Given the description of an element on the screen output the (x, y) to click on. 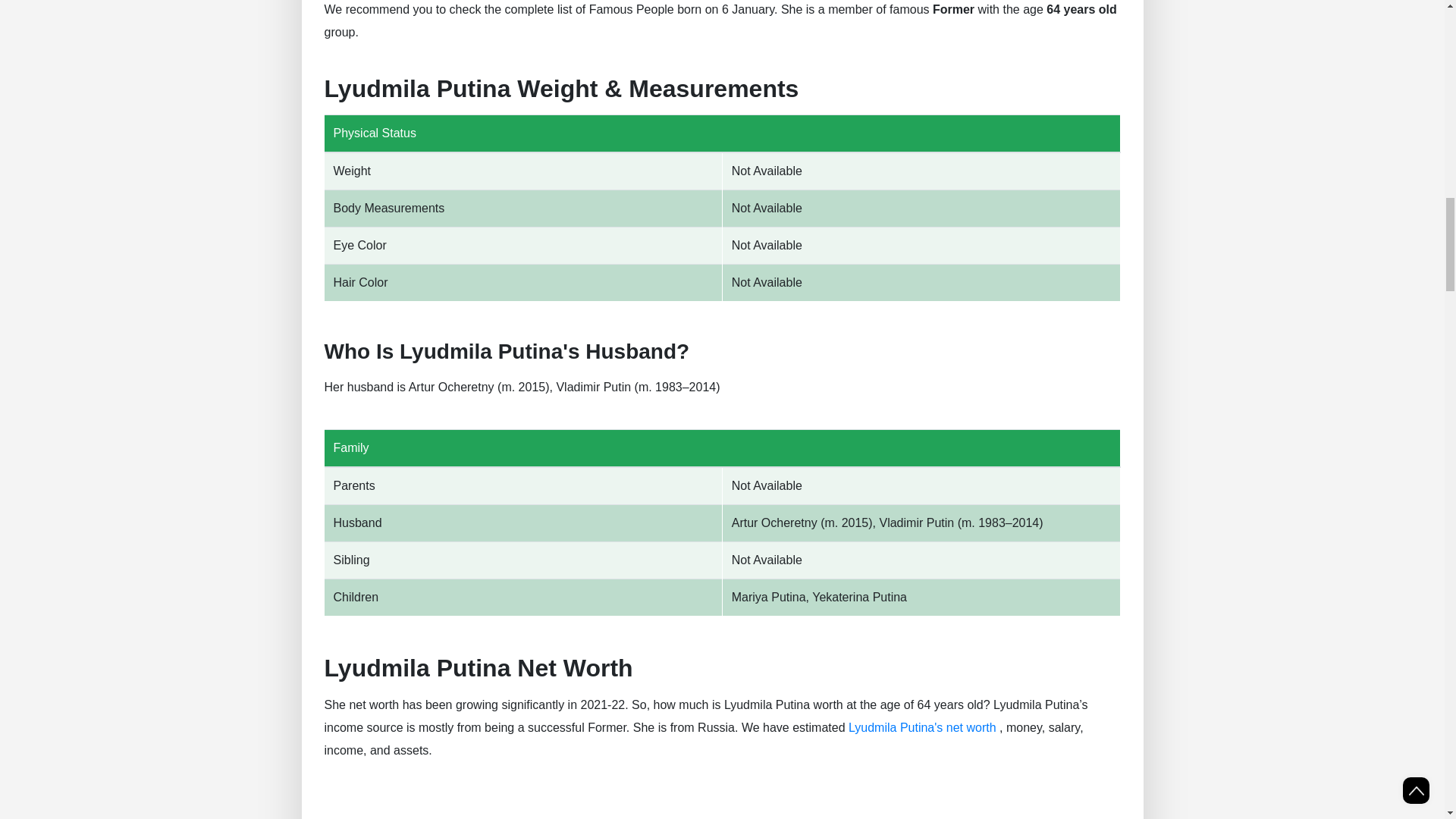
Advertisement (722, 805)
Lyudmila Putina's net worth (921, 727)
